Given the description of an element on the screen output the (x, y) to click on. 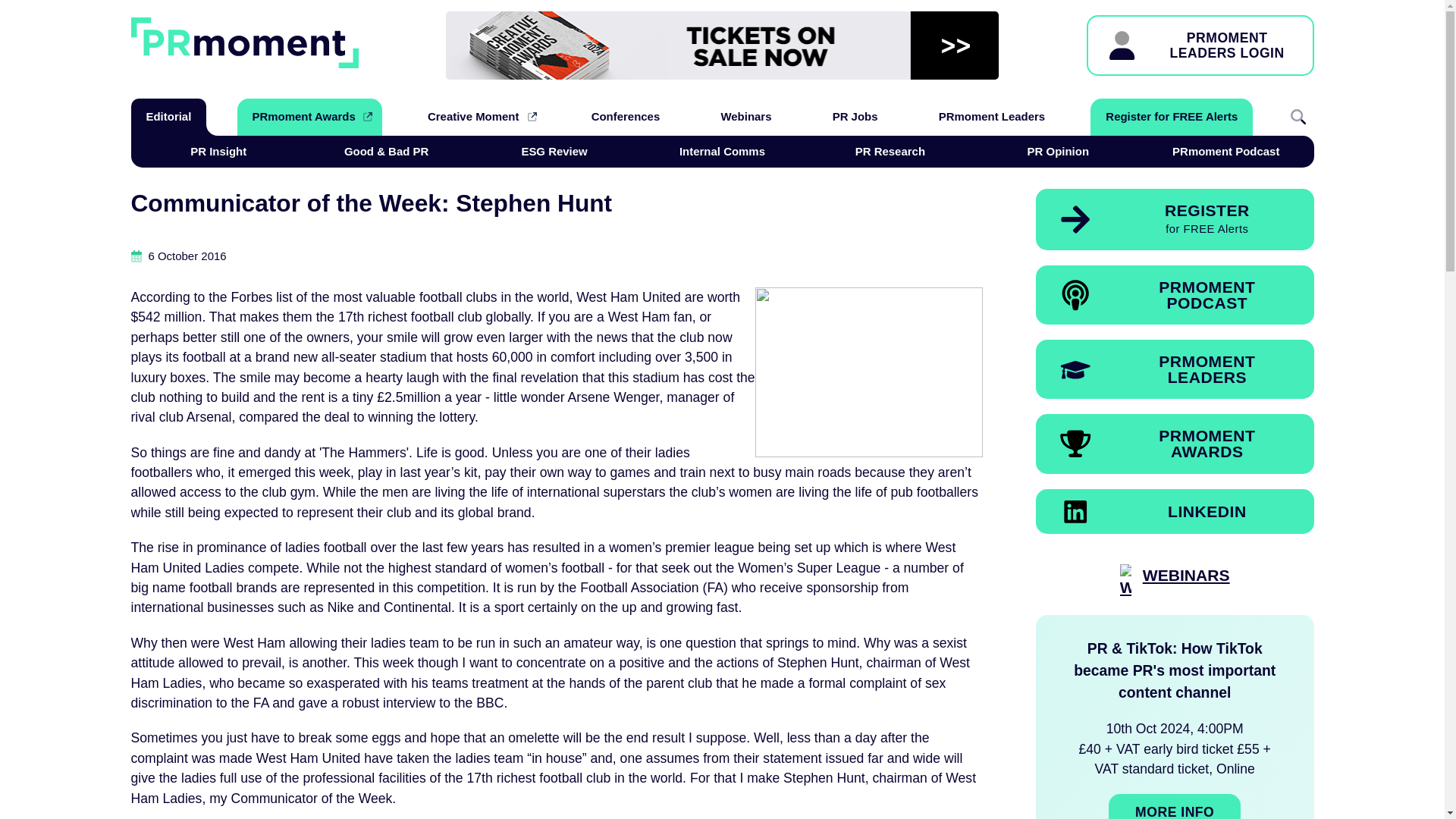
Conferences (625, 116)
ESG Review (1174, 368)
PR Research (553, 151)
Editorial (889, 151)
PRmoment Awards (168, 116)
WEBINARS (309, 116)
PR Opinion (1186, 581)
Register for FREE Alerts (1057, 151)
